Given the description of an element on the screen output the (x, y) to click on. 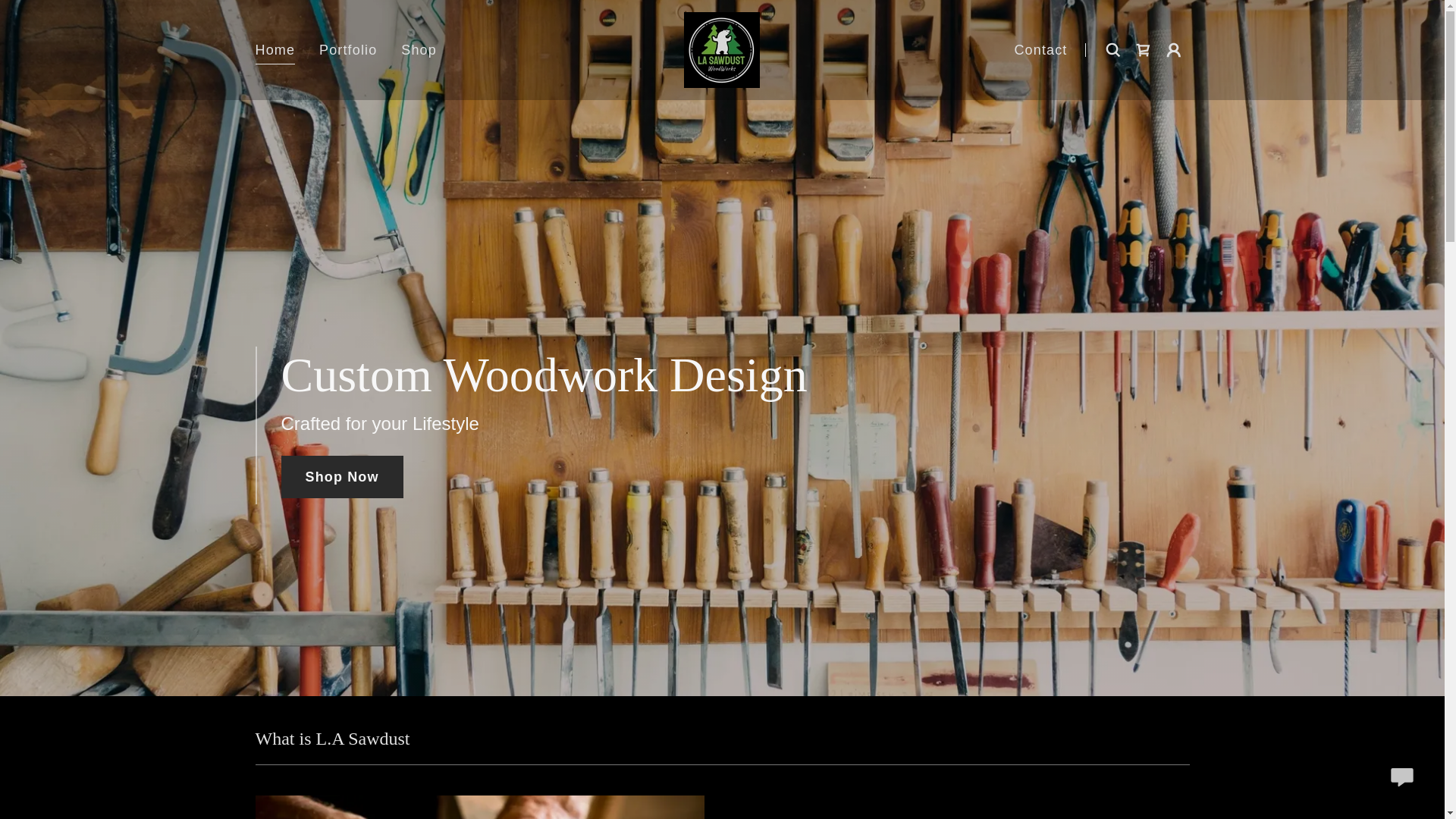
L.A. Sawdust Woodworks (722, 48)
Portfolio (347, 49)
Shop (418, 49)
Home (274, 51)
Contact (1040, 49)
Shop Now (342, 476)
